Given the description of an element on the screen output the (x, y) to click on. 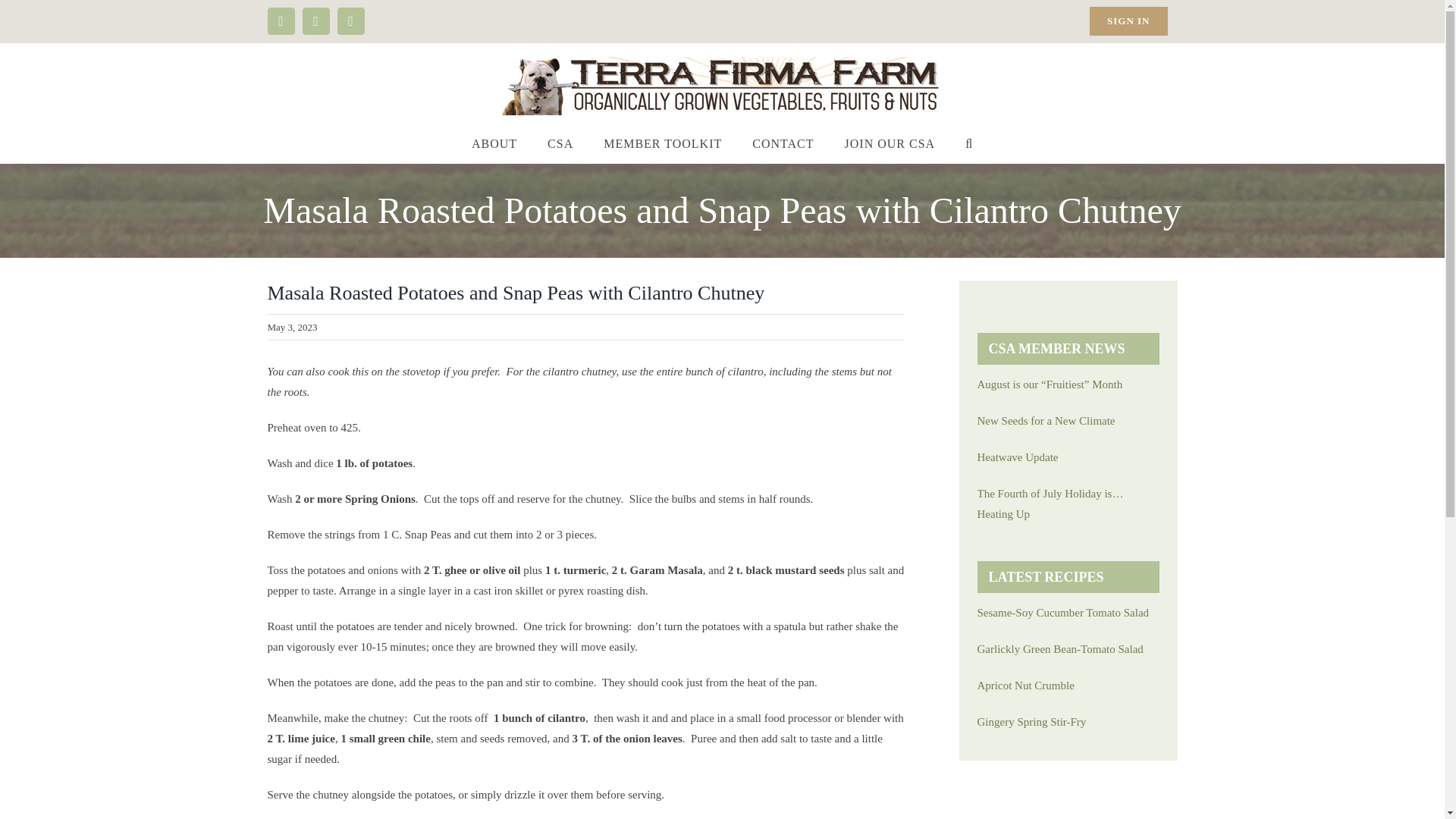
CSA (560, 143)
New Seeds for a New Climate (1067, 421)
Garlickly Green Bean-Tomato Salad (1067, 649)
Sesame-Soy Cucumber Tomato Salad (1067, 612)
CONTACT (782, 143)
MEMBER TOOLKIT (662, 143)
Apricot Nut Crumble (1067, 685)
Facebook (280, 21)
JOIN OUR CSA (889, 143)
ABOUT (494, 143)
Yelp (350, 21)
Instagram (315, 21)
Gingery Spring Stir-Fry (1067, 721)
Instagram (315, 21)
SIGN IN (1128, 21)
